Given the description of an element on the screen output the (x, y) to click on. 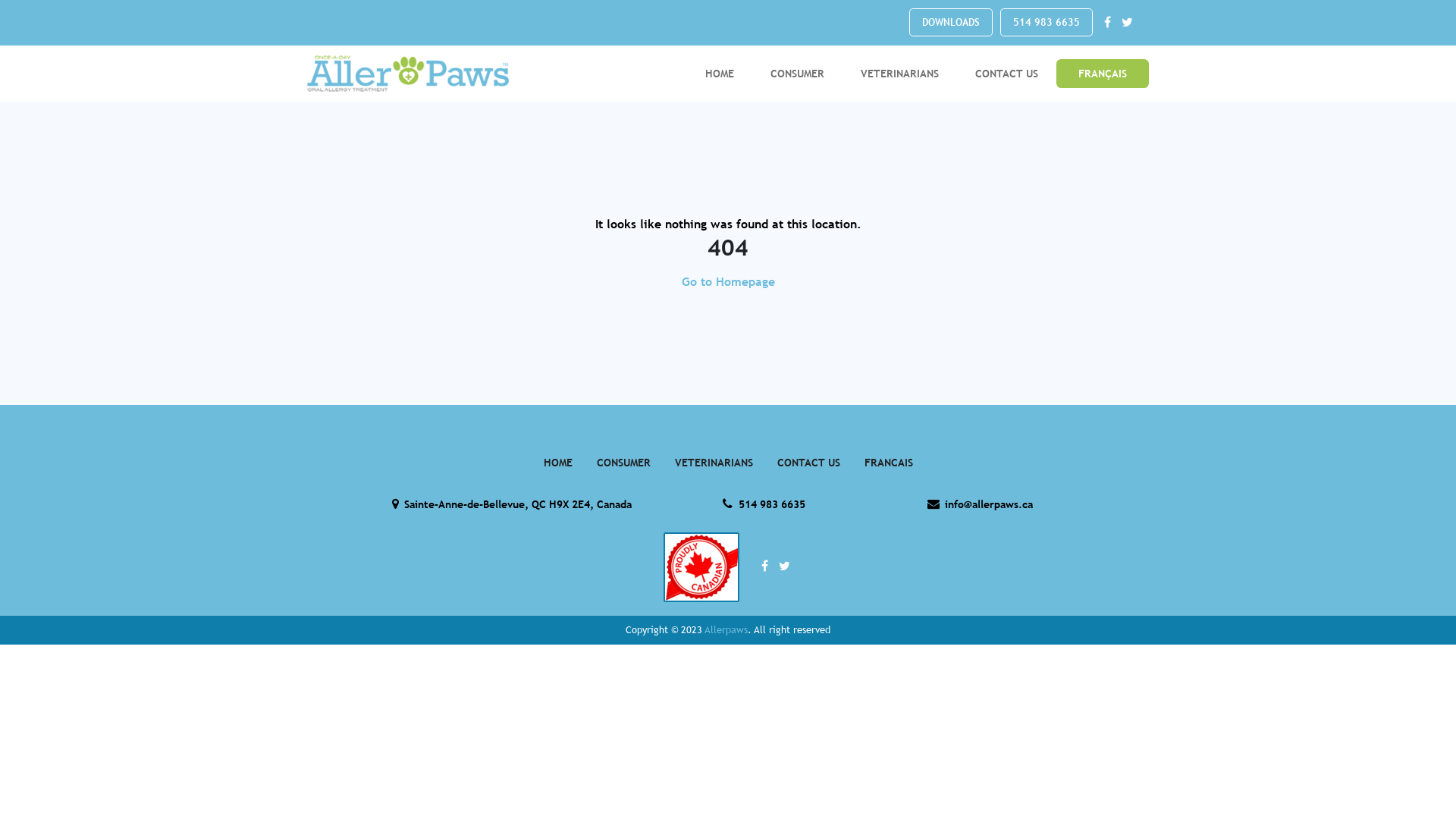
Aller Paws Element type: hover (407, 73)
Go to Homepage Element type: text (727, 281)
DOWNLOADS Element type: text (950, 22)
514 983 6635 Element type: text (1046, 22)
CONTACT US Element type: text (807, 461)
HOME Element type: text (556, 461)
HOME Element type: text (719, 73)
info@allerpaws.ca Element type: text (979, 503)
FRANCAIS Element type: text (888, 461)
VETERINARIANS Element type: text (899, 73)
514 983 6635 Element type: text (763, 503)
CONSUMER Element type: text (622, 461)
CONSUMER Element type: text (797, 73)
CONTACT US Element type: text (1006, 73)
VETERINARIANS Element type: text (713, 461)
